Given the description of an element on the screen output the (x, y) to click on. 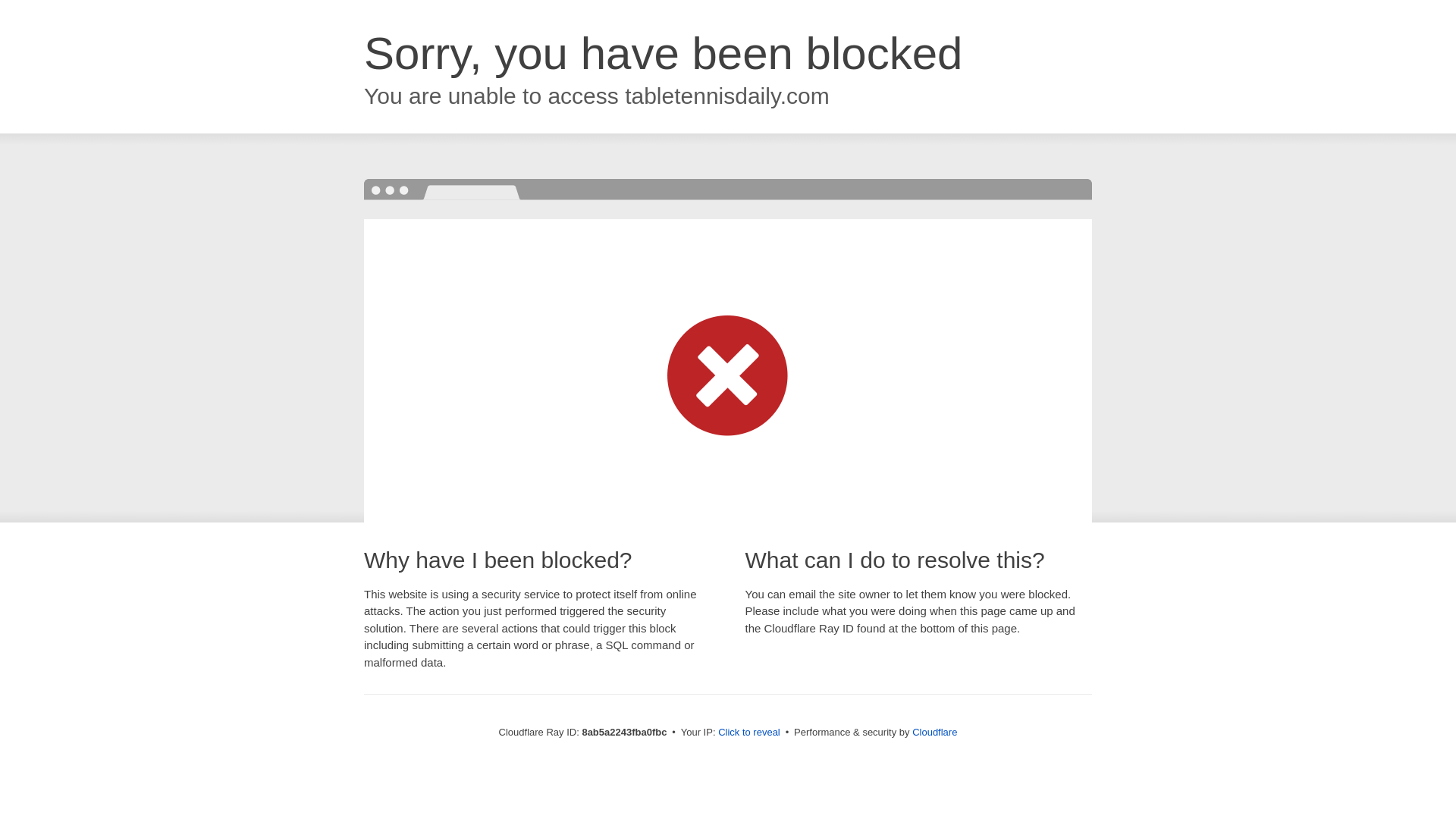
Click to reveal (748, 732)
Cloudflare (934, 731)
